Given the description of an element on the screen output the (x, y) to click on. 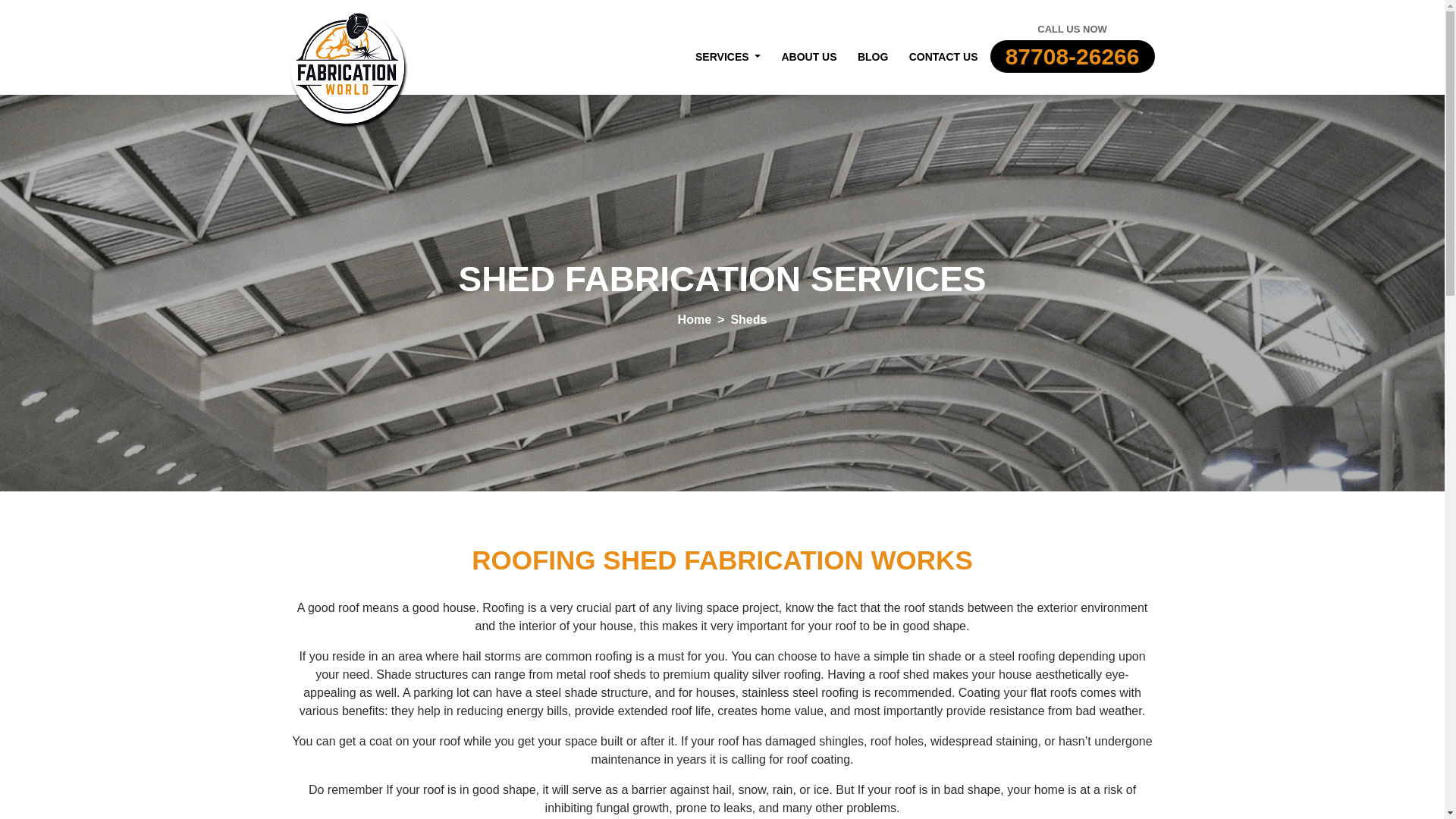
BLOG (872, 56)
87708-26266 (1072, 56)
SERVICES (727, 56)
ABOUT US (809, 56)
CONTACT US (944, 56)
Home (694, 318)
